Given the description of an element on the screen output the (x, y) to click on. 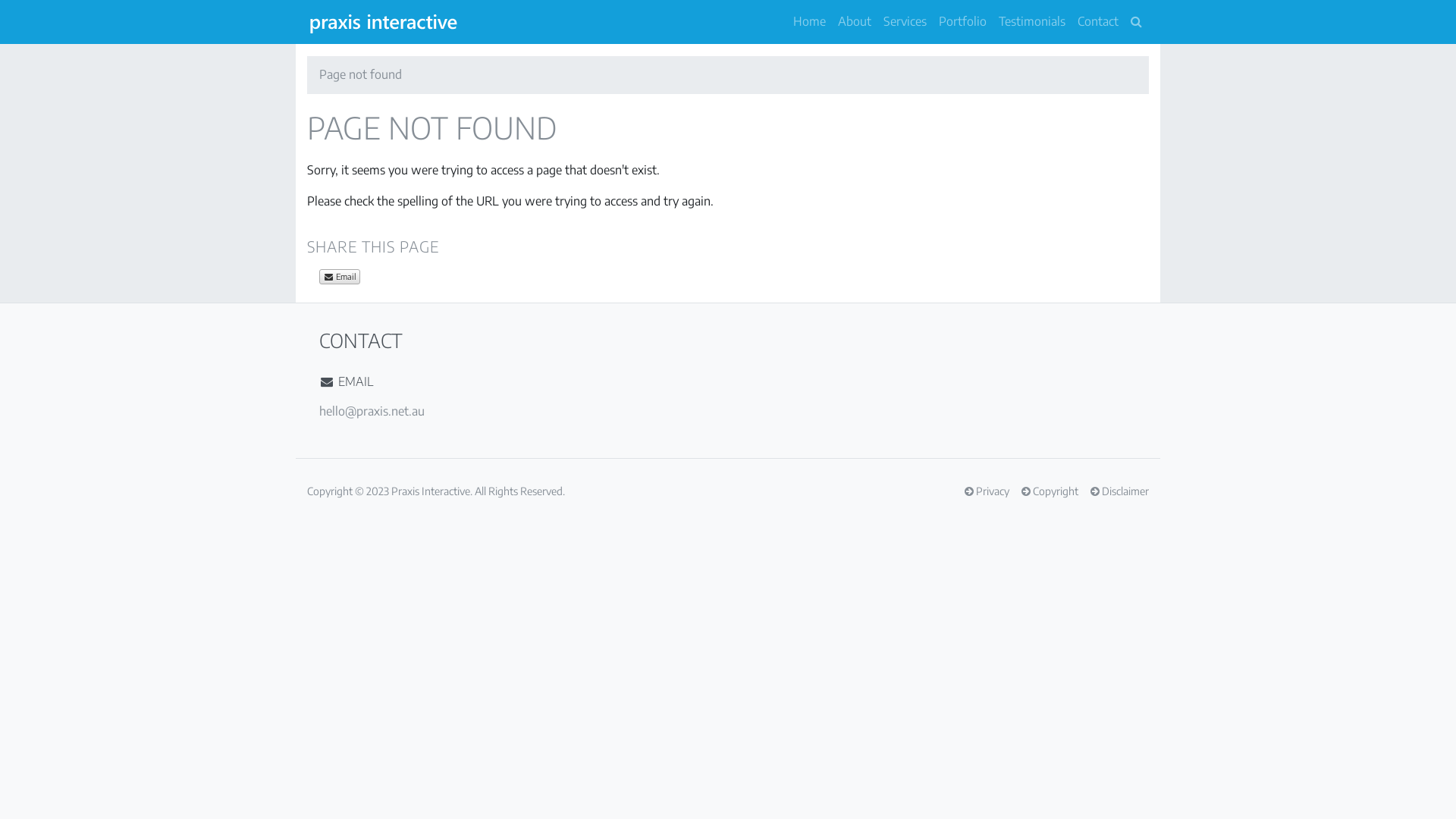
Copyright Element type: text (329, 490)
Praxis Interactive Element type: hover (383, 21)
Email Element type: text (339, 276)
ua.ten.sixarp@olleh Element type: text (371, 410)
Copyright Element type: text (1049, 491)
Contact Element type: text (1097, 21)
Privacy Element type: text (986, 491)
Testimonials Element type: text (1031, 21)
About Element type: text (854, 21)
Portfolio Element type: text (962, 21)
Praxis Interactive Element type: text (430, 490)
Home Element type: text (809, 21)
Services Element type: text (904, 21)
Disclaimer Element type: text (1119, 491)
